Given the description of an element on the screen output the (x, y) to click on. 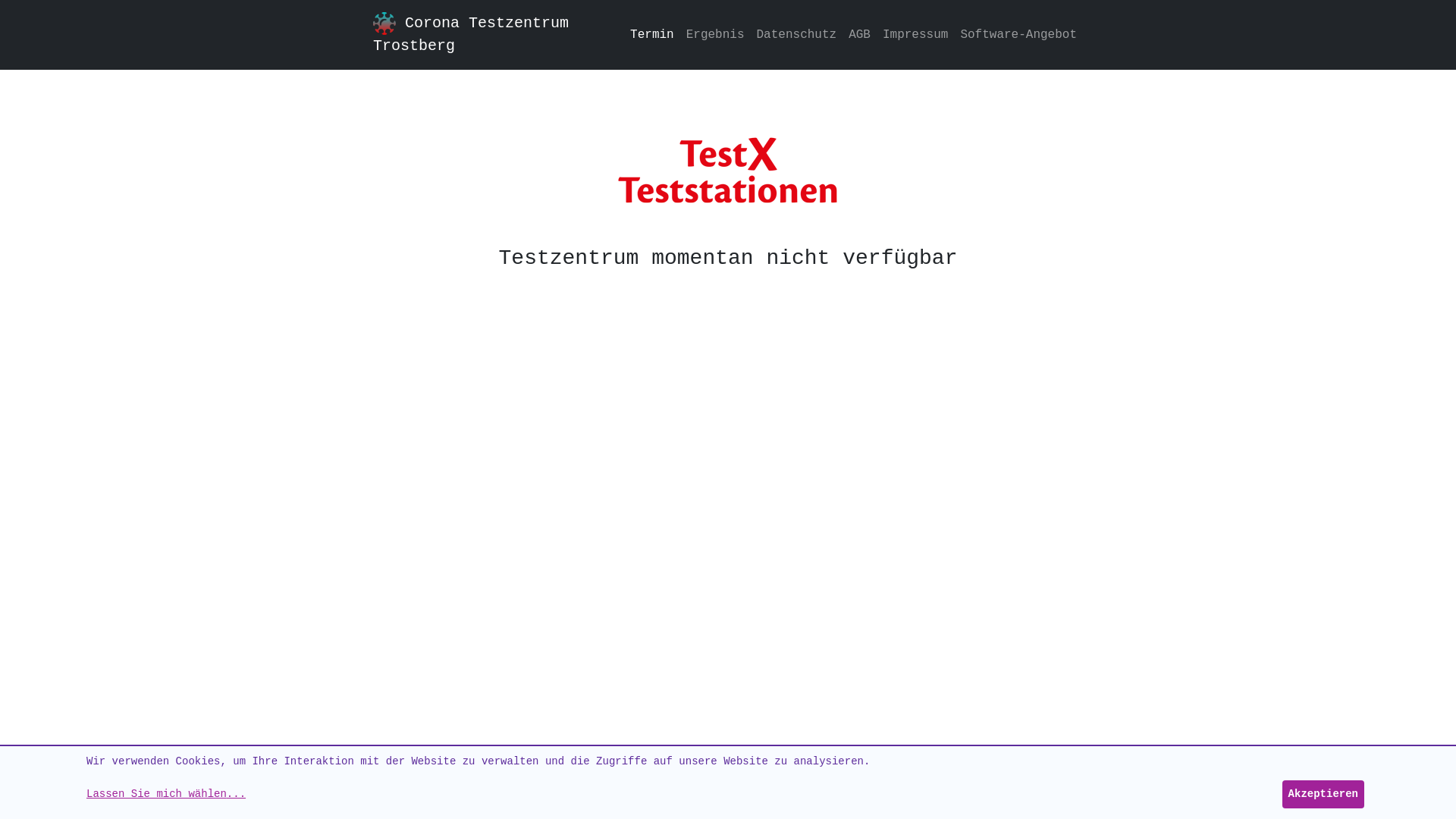
Datenschutz Element type: text (796, 34)
Software-Angebot Element type: text (1017, 34)
AGB Element type: text (859, 34)
Akzeptieren Element type: text (1323, 794)
Termin Element type: text (652, 34)
Impressum Element type: text (914, 34)
Ergebnis Element type: text (715, 34)
Corona Testzentrum Trostberg Element type: text (486, 34)
